Given the description of an element on the screen output the (x, y) to click on. 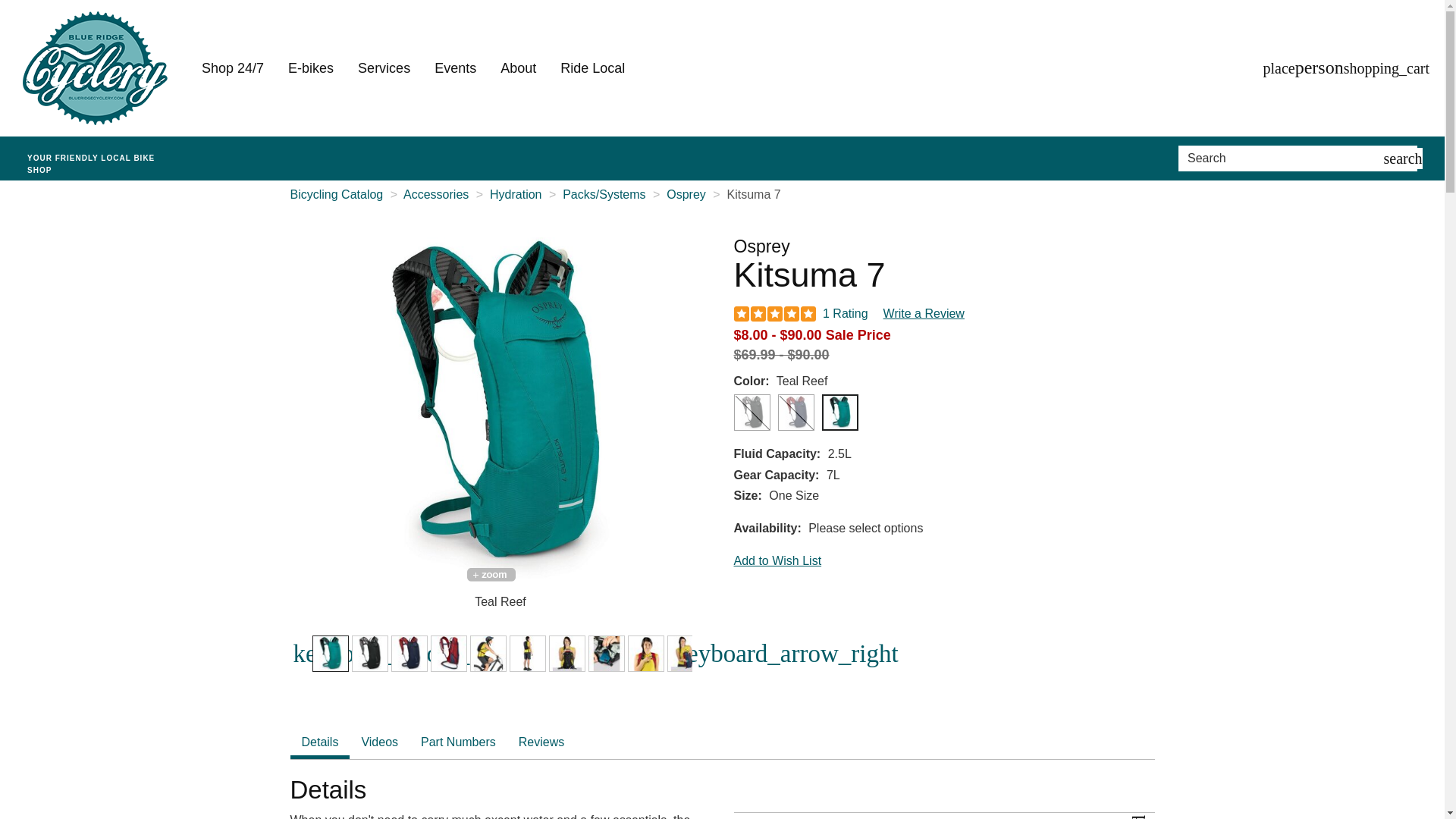
Color: Blue Mage (408, 653)
Color: Black (369, 653)
Color: Teal Reef (330, 653)
Blue Ridge Cyclery Home Page (95, 68)
Blue Ridge Cyclery Home Page (100, 158)
Search (1283, 158)
